Given the description of an element on the screen output the (x, y) to click on. 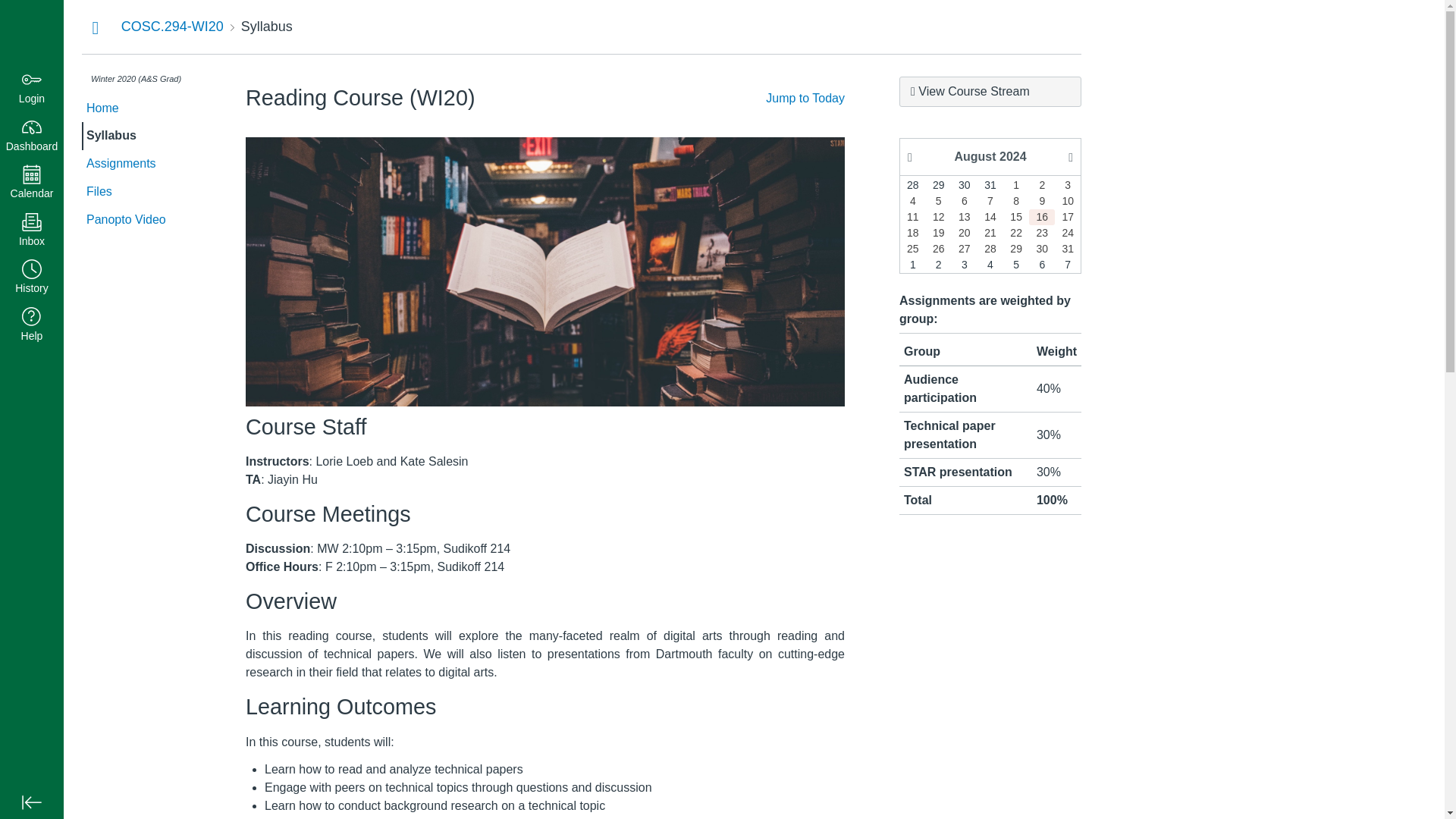
Calendar (32, 182)
Dashboard (32, 32)
Files (140, 192)
COSC.294-WI20 (172, 26)
Help (32, 325)
Inbox (32, 230)
Dashboard (32, 135)
Login (32, 88)
Jump to Today (804, 97)
View Course Stream (990, 91)
